Given the description of an element on the screen output the (x, y) to click on. 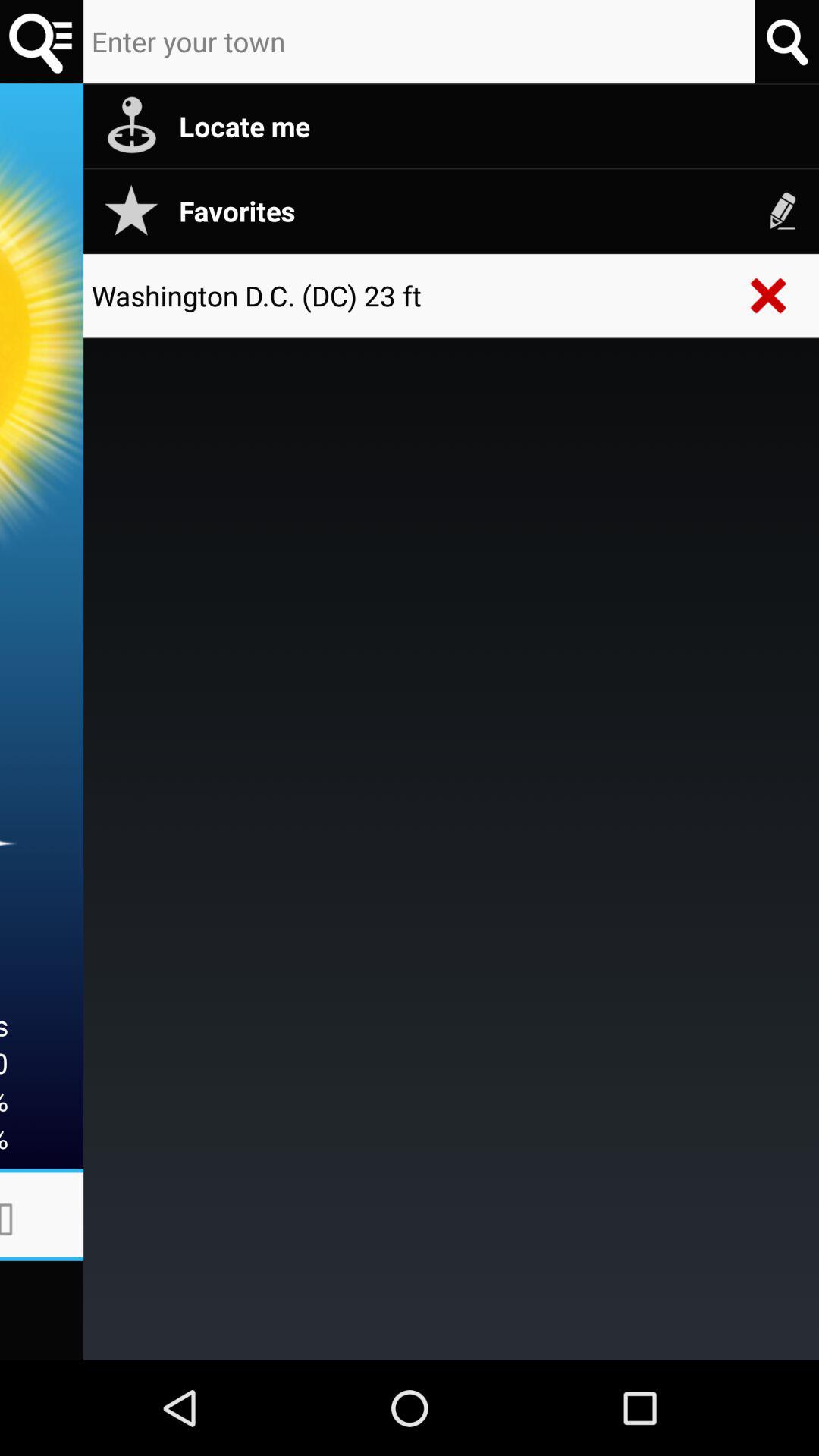
tap locate me item (491, 126)
